Given the description of an element on the screen output the (x, y) to click on. 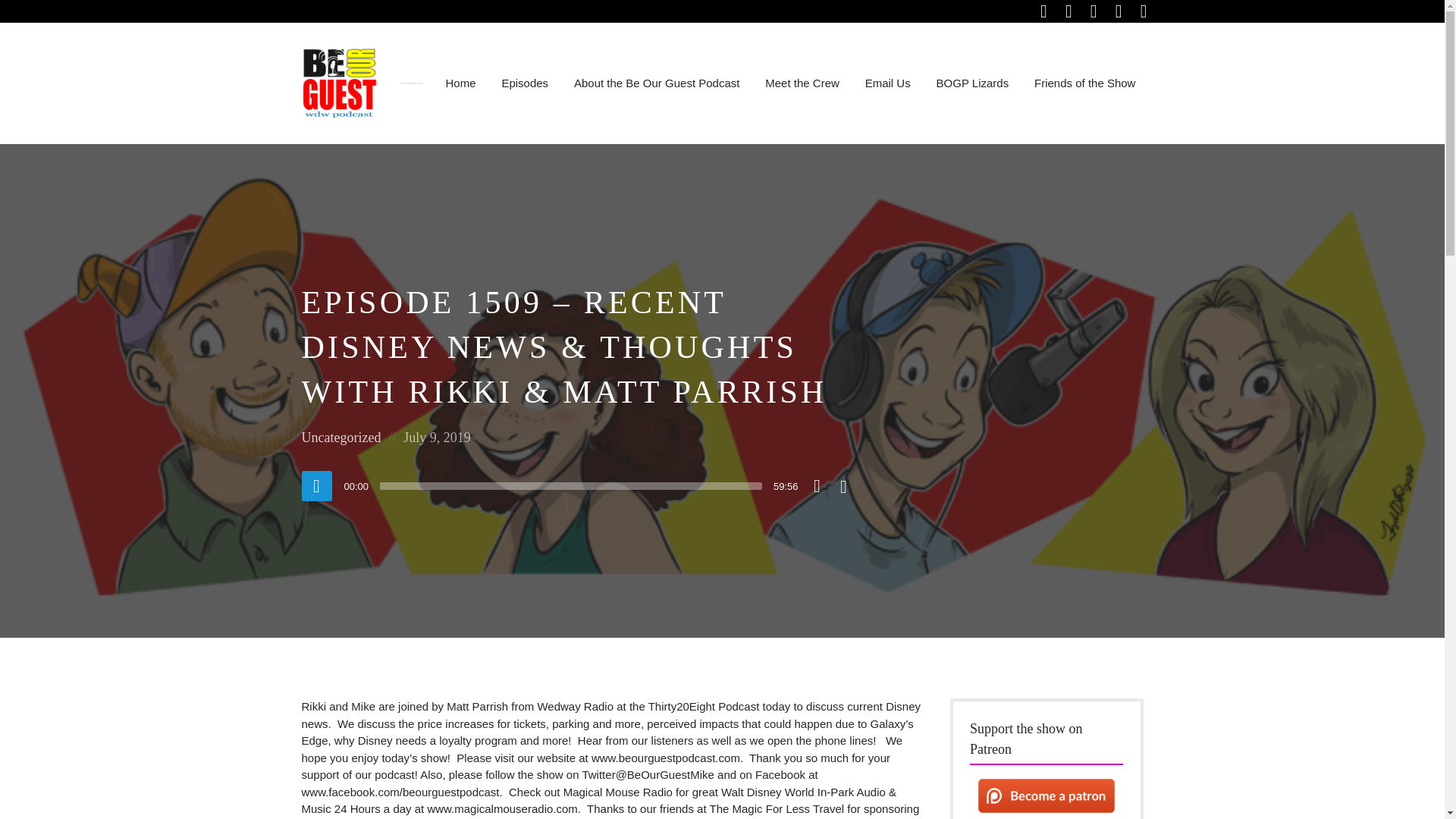
Instagram (1069, 11)
YouTube (1143, 11)
Twitter (1094, 11)
About the Be Our Guest Podcast (656, 83)
BOGP Lizards (972, 83)
iTunes (1118, 11)
Episodes (524, 83)
Friends of the Show (1084, 83)
Email Us (887, 83)
July 9, 2019 (436, 437)
Meet the Crew (802, 83)
Home (460, 83)
Play (316, 485)
Facebook (1043, 11)
